Given the description of an element on the screen output the (x, y) to click on. 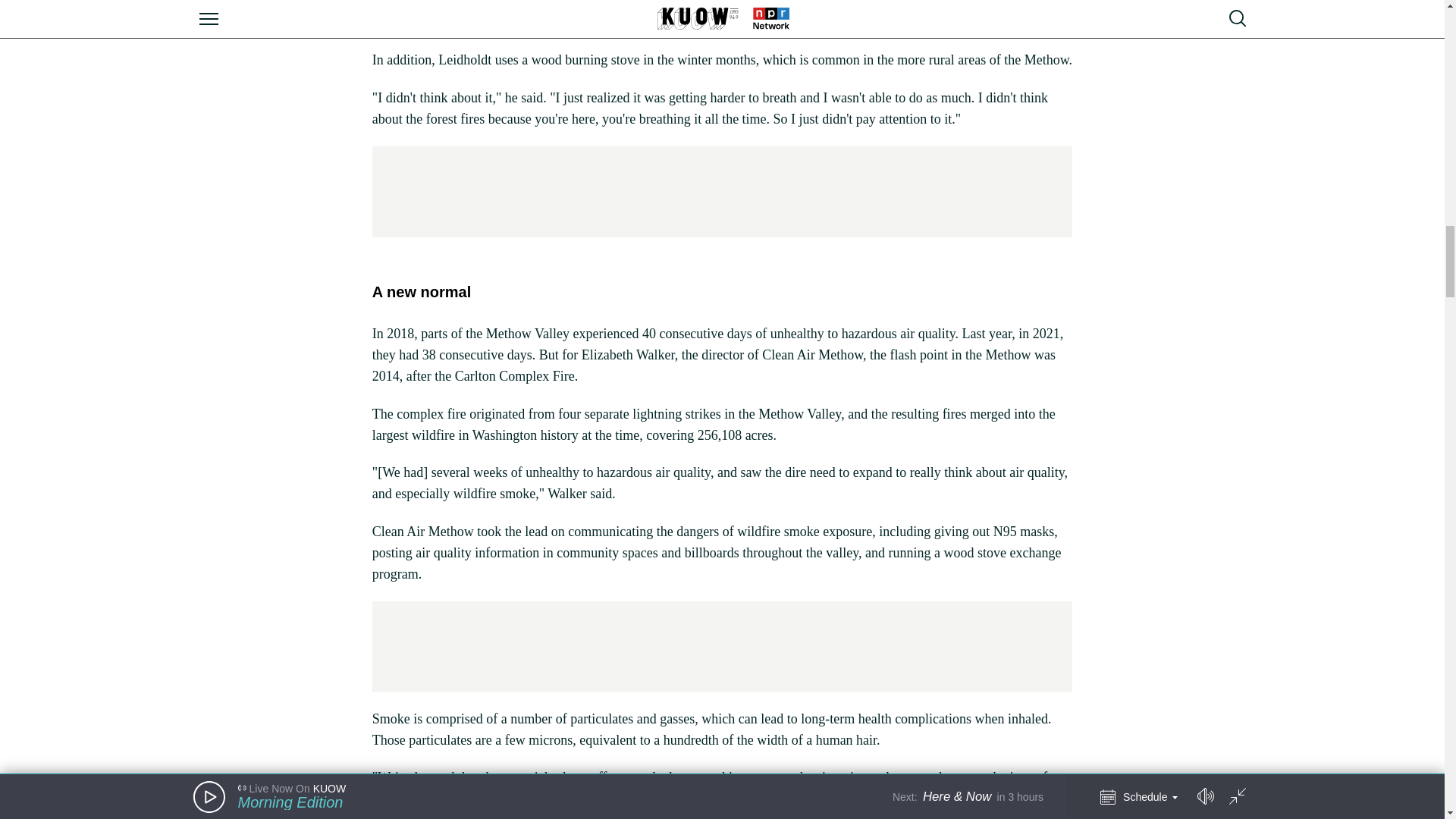
3rd party ad content (721, 192)
3rd party ad content (721, 646)
